Given the description of an element on the screen output the (x, y) to click on. 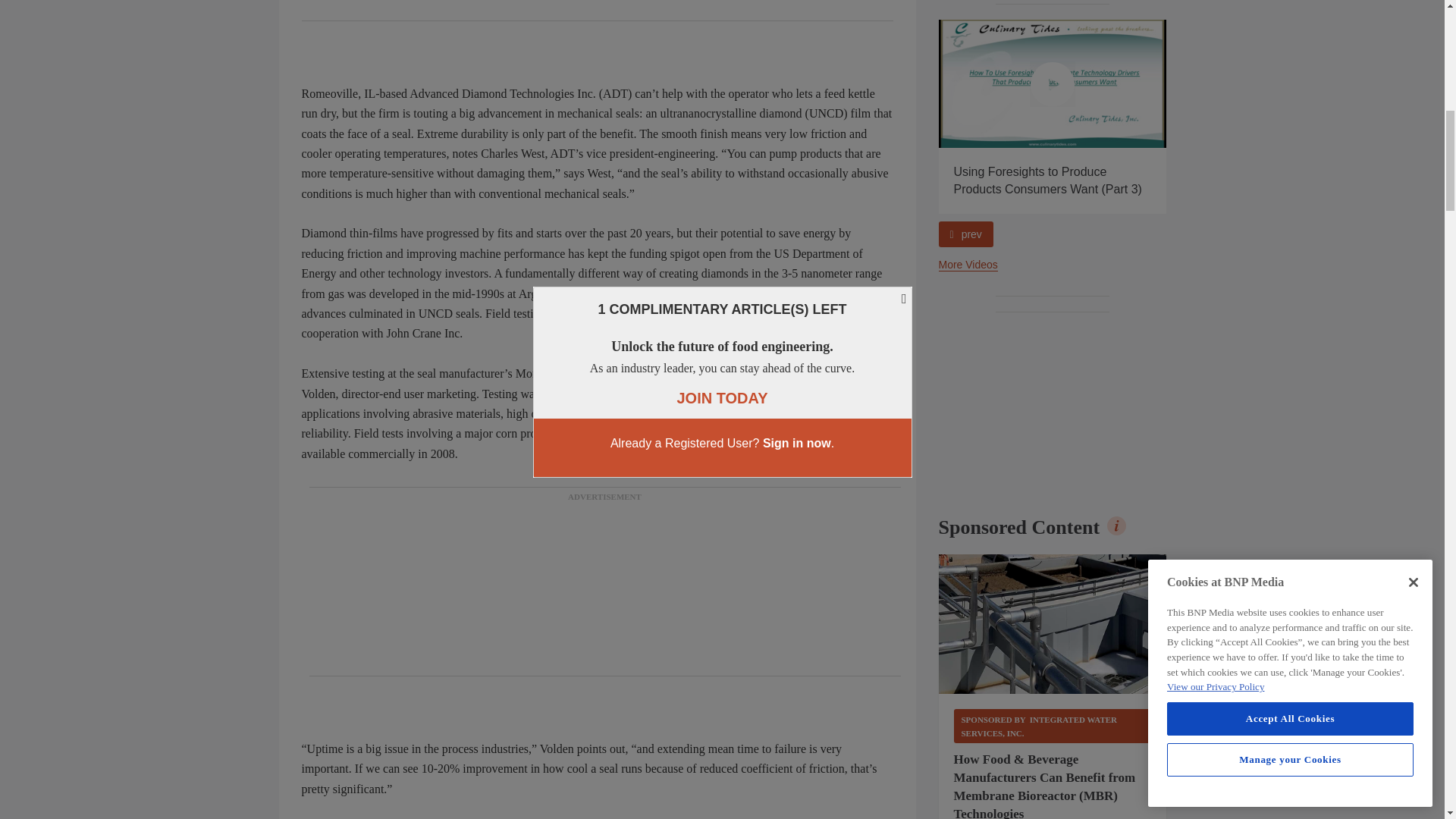
Celebrating Women in Engineering: Jayme Laser (825, 83)
Sponsored by Integrated Water Services, Inc. (1052, 725)
MBR (1052, 623)
